Given the description of an element on the screen output the (x, y) to click on. 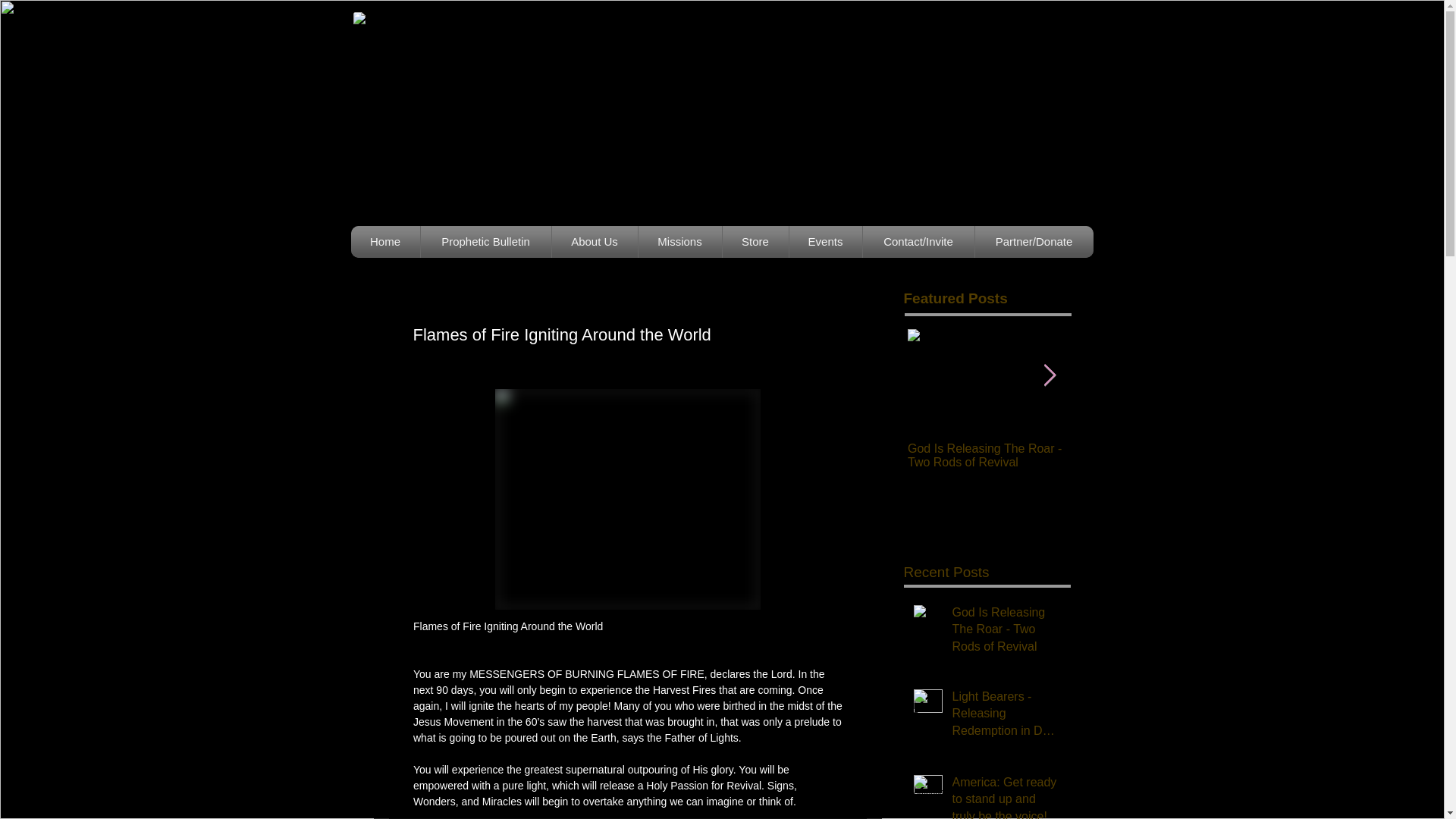
Light Bearers - Releasing Redemption in Dark Times (1157, 455)
Store (755, 241)
Events (826, 241)
God Is Releasing The Roar - Two Rods of Revival (1006, 632)
God Is Releasing The Roar - Two Rods of Revival (990, 455)
Missions (679, 241)
America: Get ready to stand up and truly be the voice! (1006, 796)
About Us (593, 241)
Home (385, 241)
